Given the description of an element on the screen output the (x, y) to click on. 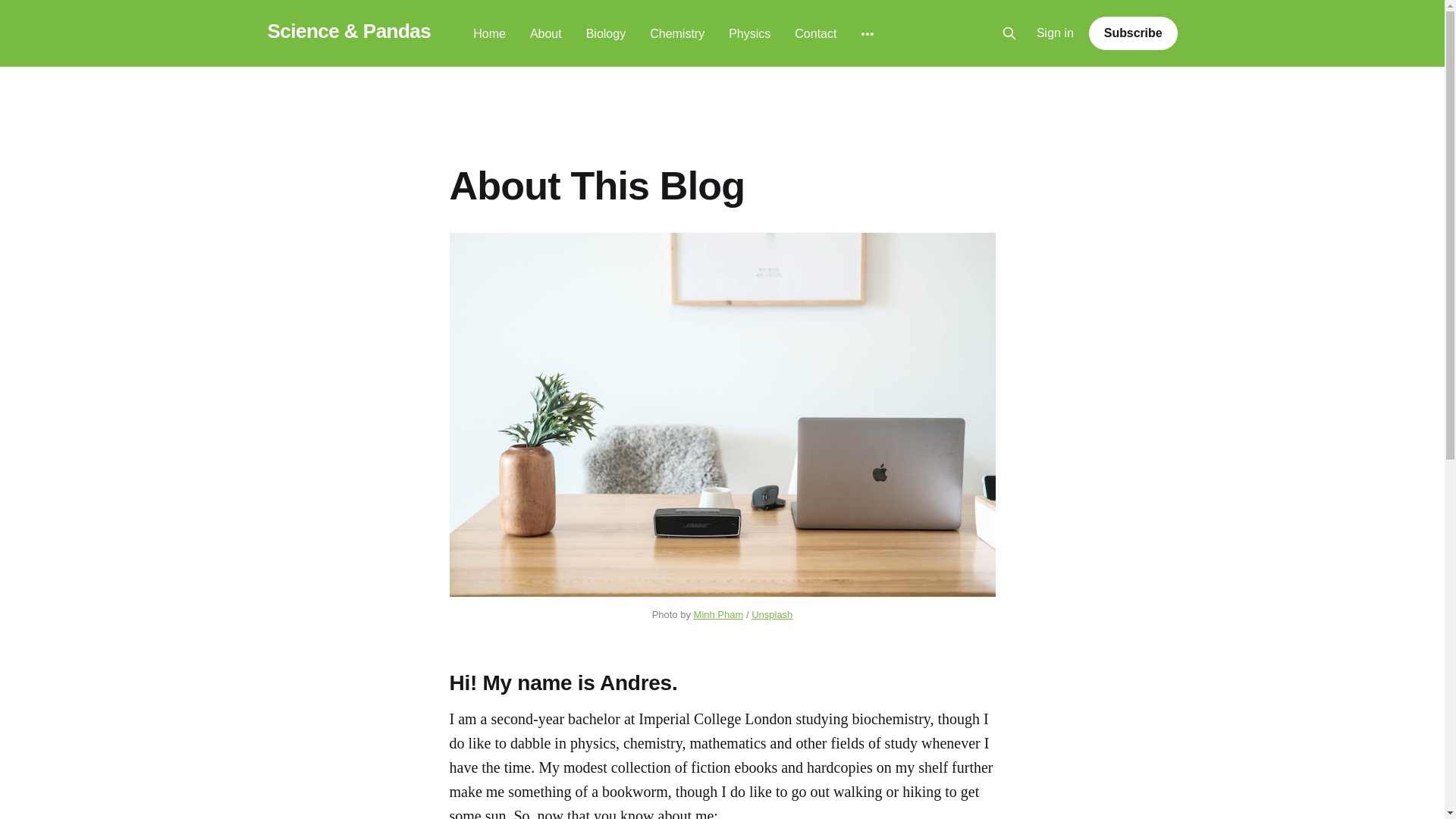
Home (489, 33)
Minh Pham (719, 614)
Physics (749, 33)
About (545, 33)
Chemistry (676, 33)
Contact (814, 33)
Subscribe (1133, 32)
Biology (606, 33)
Sign in (1055, 33)
Unsplash (771, 614)
